Given the description of an element on the screen output the (x, y) to click on. 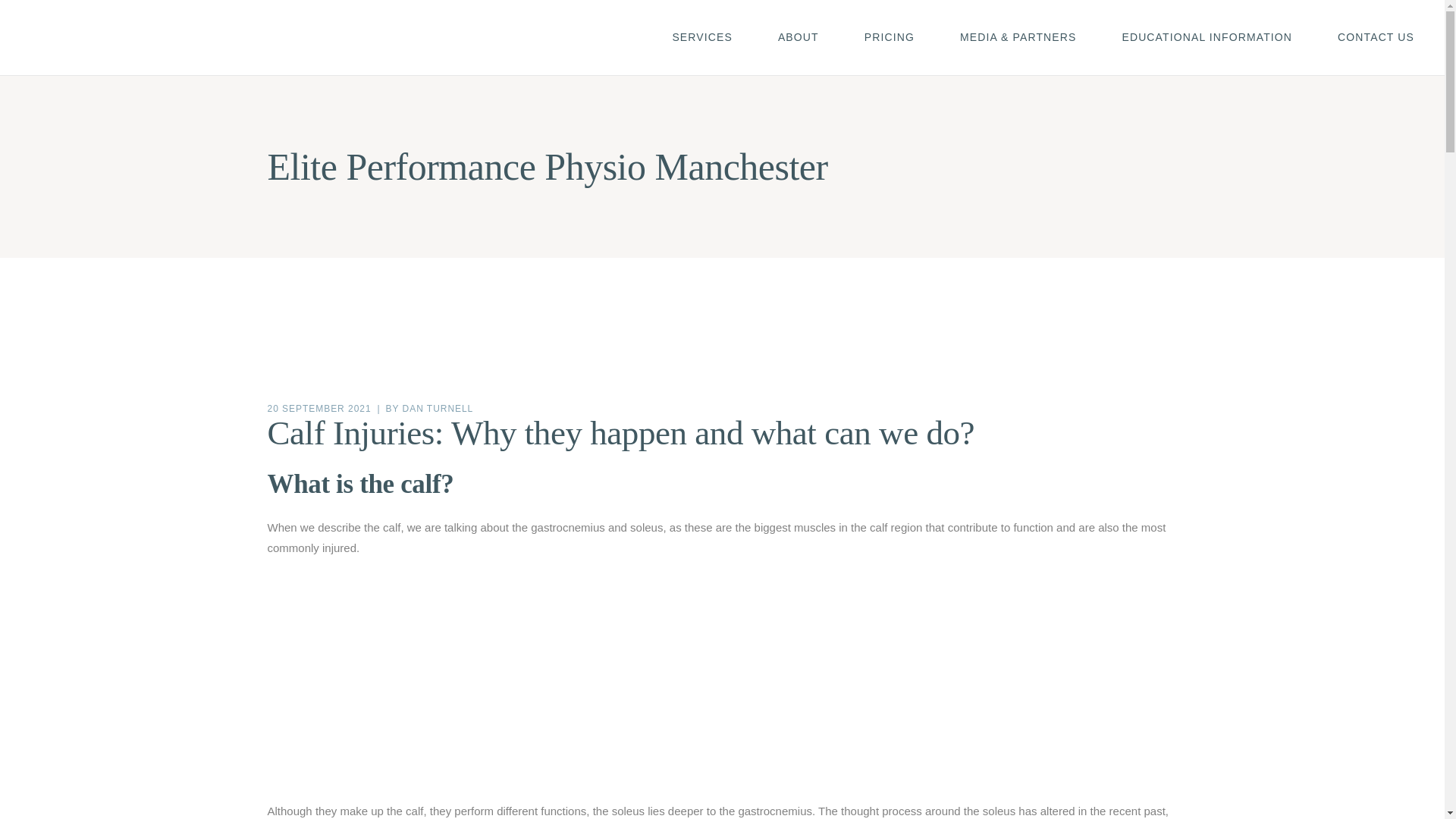
EDUCATIONAL INFORMATION (1206, 37)
DAN TURNELL (438, 408)
SERVICES (701, 37)
PRICING (889, 37)
CONTACT US (1375, 37)
ABOUT (797, 37)
20 SEPTEMBER 2021 (318, 408)
